Given the description of an element on the screen output the (x, y) to click on. 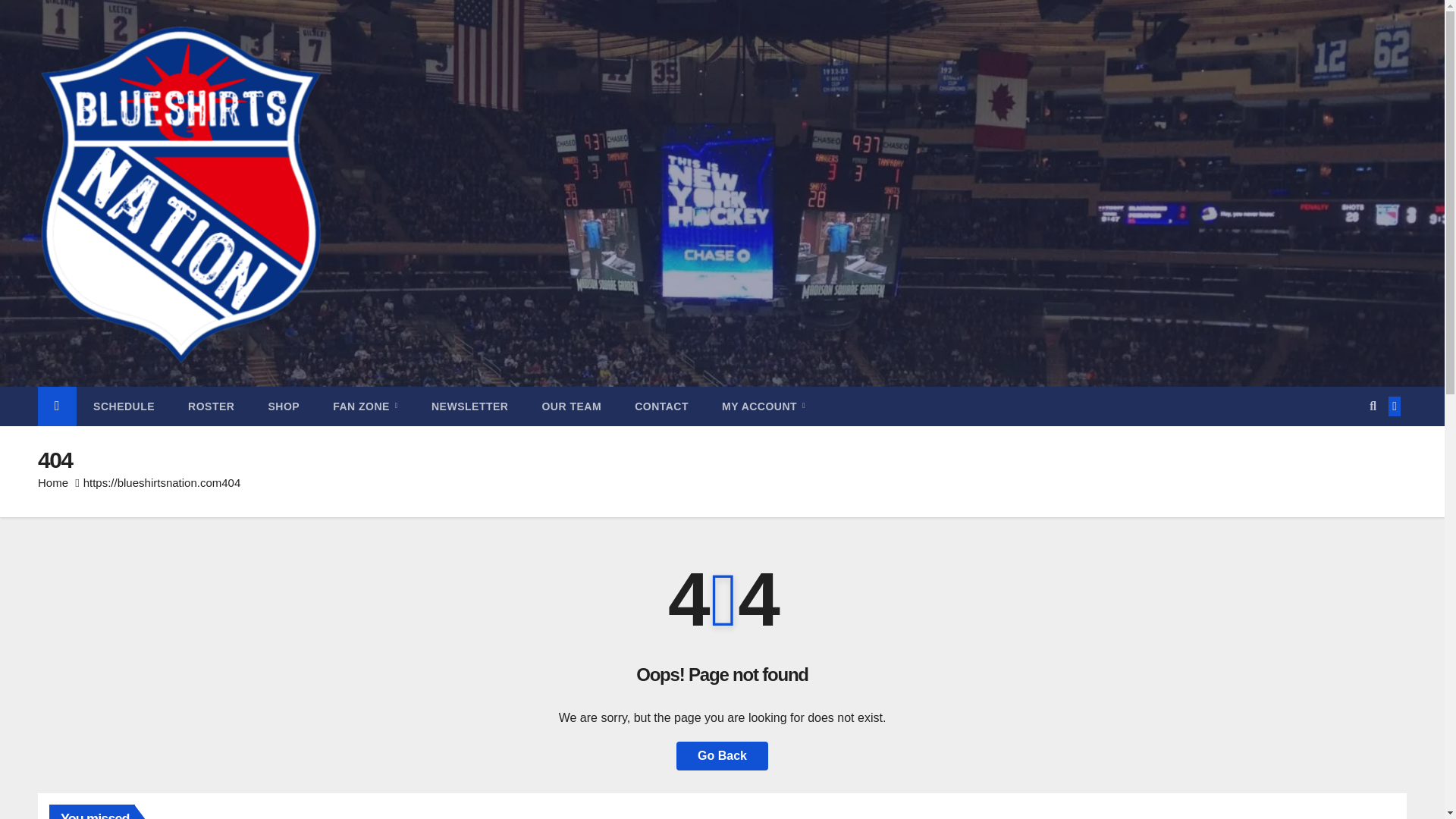
SCHEDULE (124, 405)
SHOP (282, 405)
NEWSLETTER (469, 405)
Contact (660, 405)
Newsletter (469, 405)
FAN ZONE (364, 405)
Shop (282, 405)
MY ACCOUNT (763, 405)
Our Team (570, 405)
My account (763, 405)
Fan Zone (364, 405)
Go Back (722, 756)
CONTACT (660, 405)
OUR TEAM (570, 405)
Schedule (124, 405)
